Given the description of an element on the screen output the (x, y) to click on. 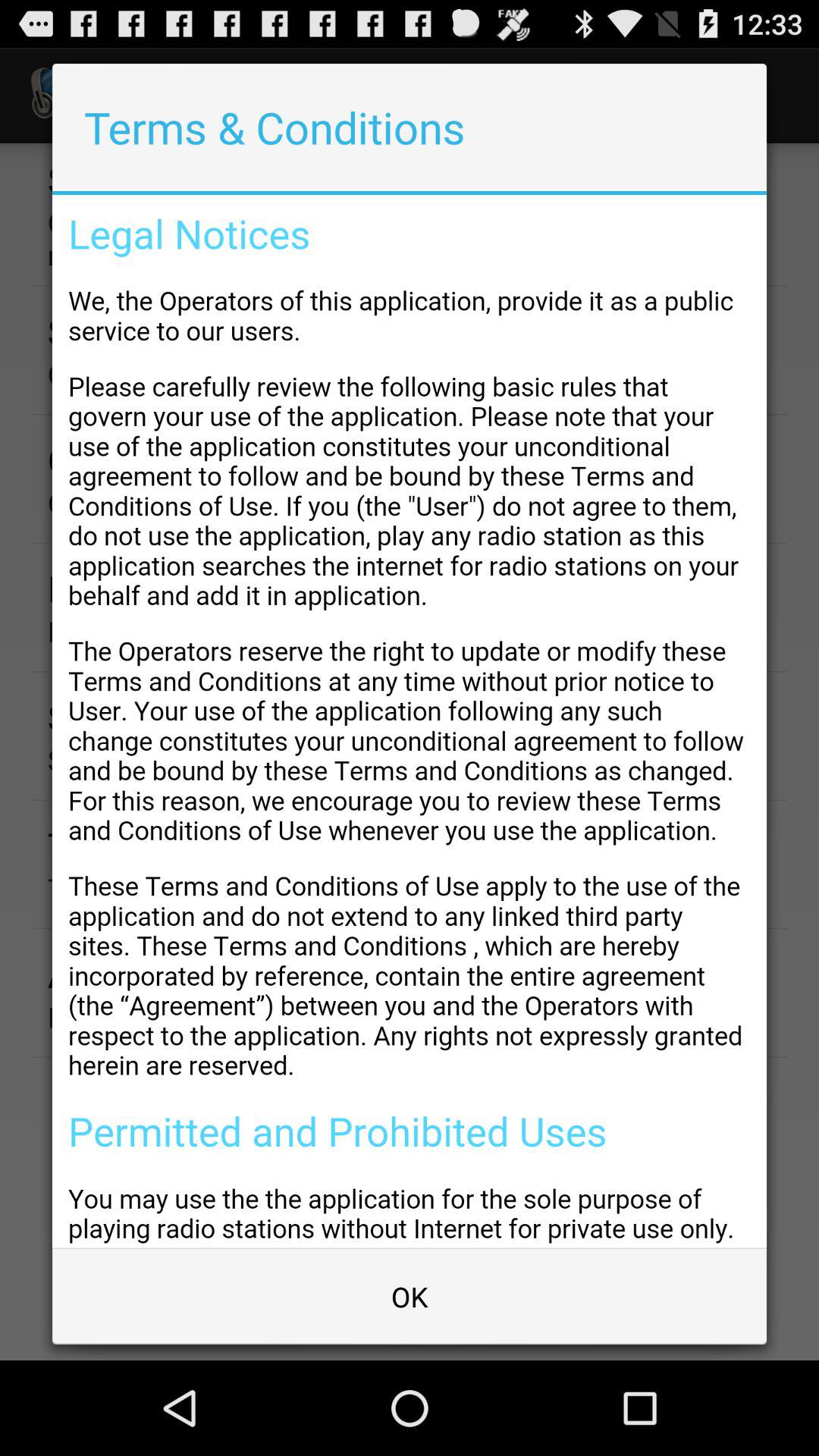
terms of service (409, 721)
